Given the description of an element on the screen output the (x, y) to click on. 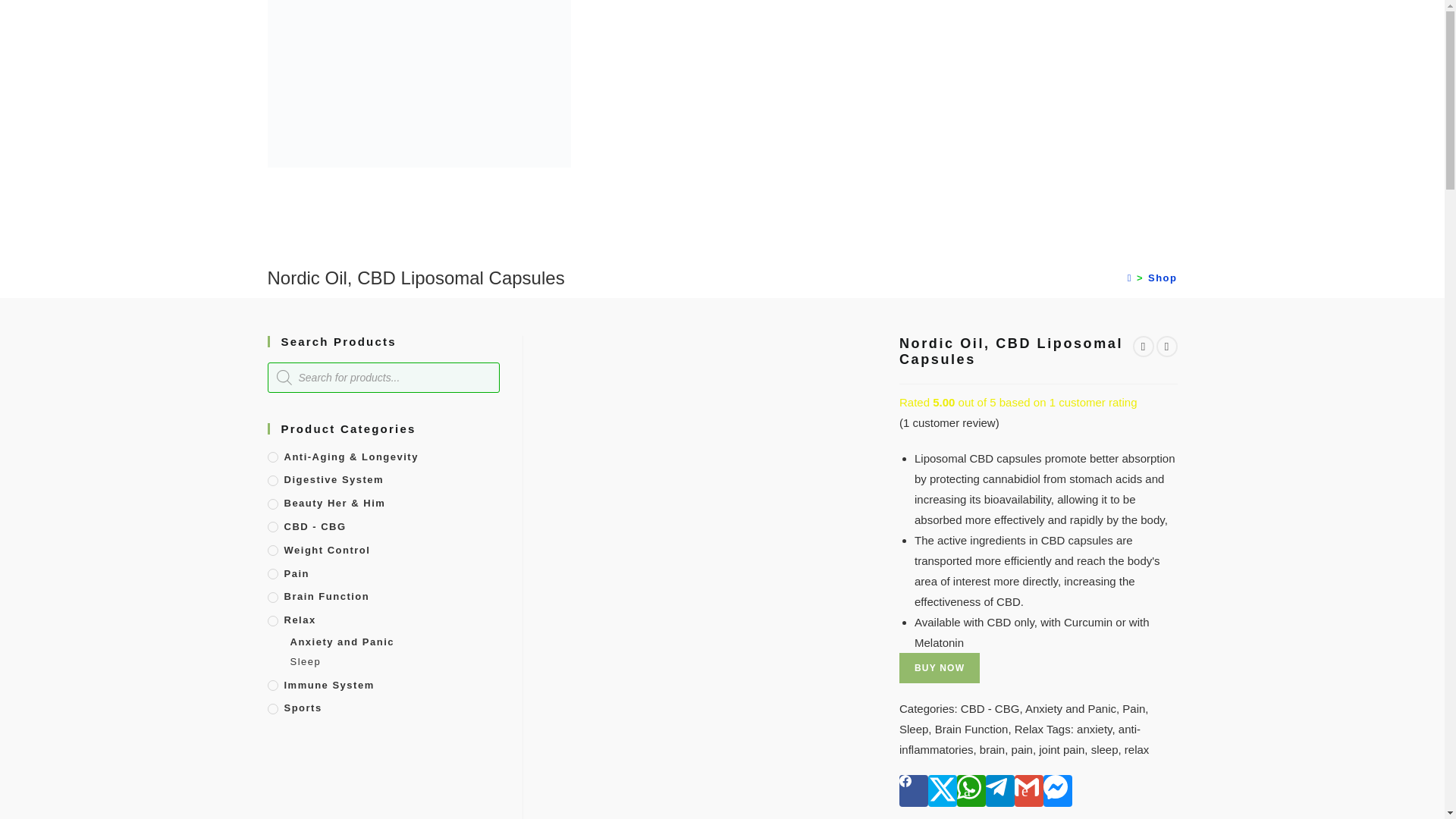
Share on Telegram (999, 790)
SHOP (802, 22)
Share on Facebook Messenger (1057, 790)
HOME (646, 22)
Share on Gmail (1028, 790)
Pain (1133, 707)
Shop (1162, 277)
HEALTH COACHING (915, 22)
BLOG (721, 22)
BUY NOW (939, 667)
